Given the description of an element on the screen output the (x, y) to click on. 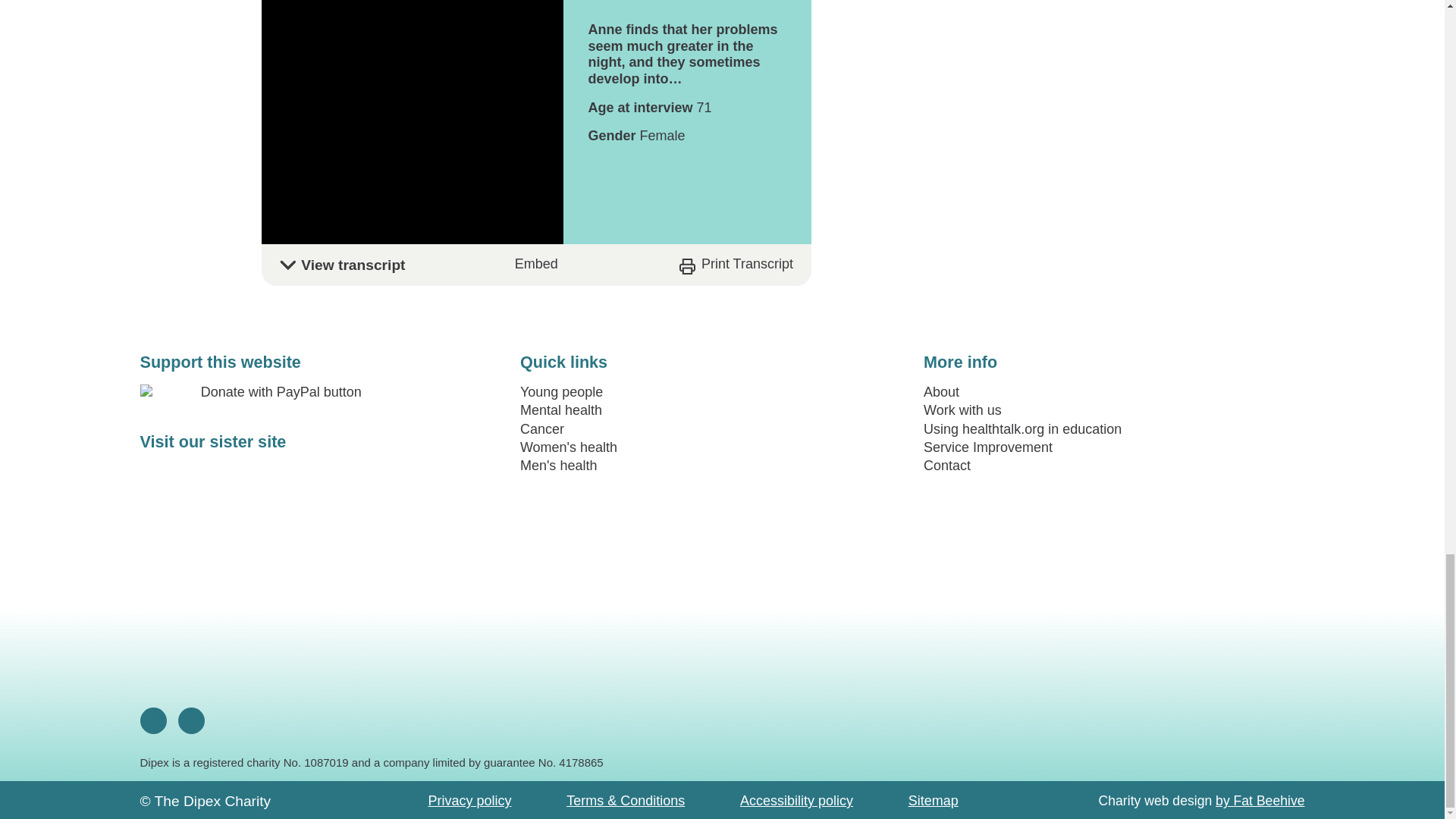
PayPal - The safer, easier way to pay online! (274, 392)
Facebook (152, 720)
Embed (536, 264)
Print Transcript (736, 263)
Twitter (191, 720)
View transcript (535, 264)
